Given the description of an element on the screen output the (x, y) to click on. 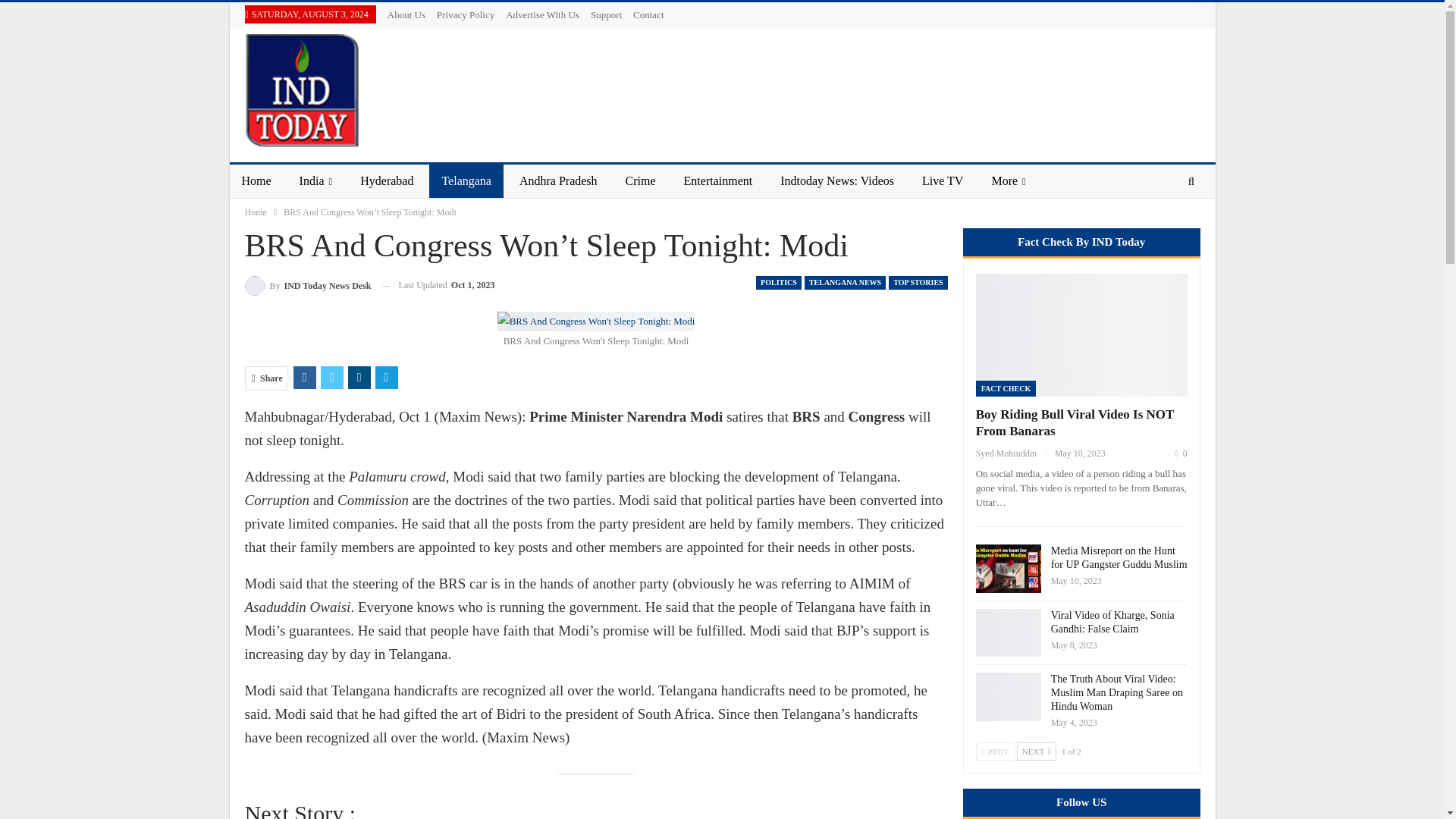
About Us (406, 14)
Crime (640, 181)
Home (255, 211)
Advertisement (923, 87)
Browse Author Articles (307, 285)
Advertise With Us (542, 14)
Support (606, 14)
Next (1036, 751)
Contact (648, 14)
Andhra Pradesh (558, 181)
India (315, 181)
Hyderabad (386, 181)
TELANGANA NEWS (845, 282)
Indtoday News: Videos (836, 181)
